Given the description of an element on the screen output the (x, y) to click on. 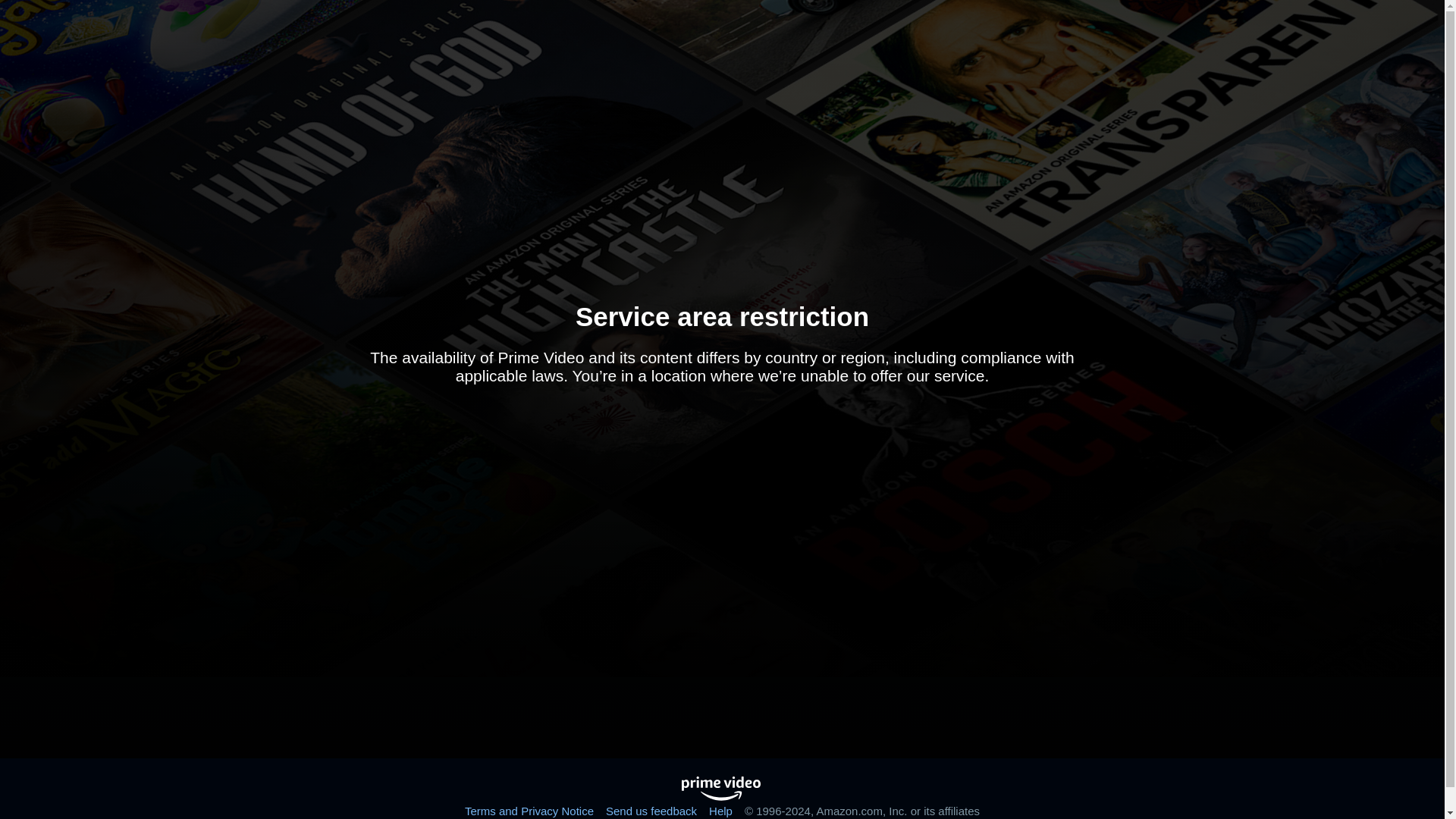
Send us feedback (651, 810)
Help (720, 810)
Terms and Privacy Notice (529, 810)
